Given the description of an element on the screen output the (x, y) to click on. 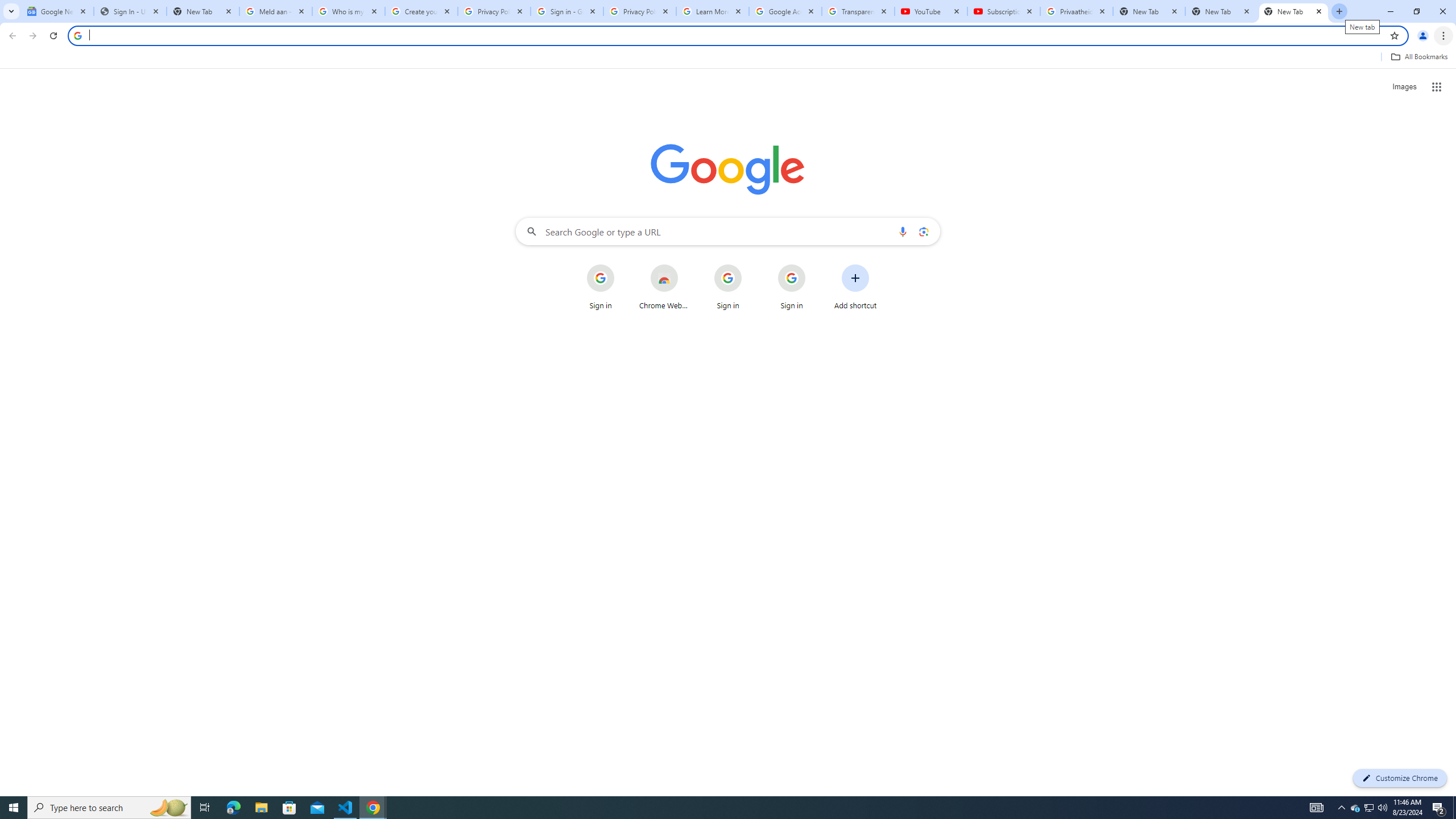
Create your Google Account (421, 11)
New Tab (1293, 11)
Who is my administrator? - Google Account Help (348, 11)
Subscriptions - YouTube (1003, 11)
Search for Images  (1403, 87)
YouTube (930, 11)
More actions for Chrome Web Store shortcut (686, 265)
